Given the description of an element on the screen output the (x, y) to click on. 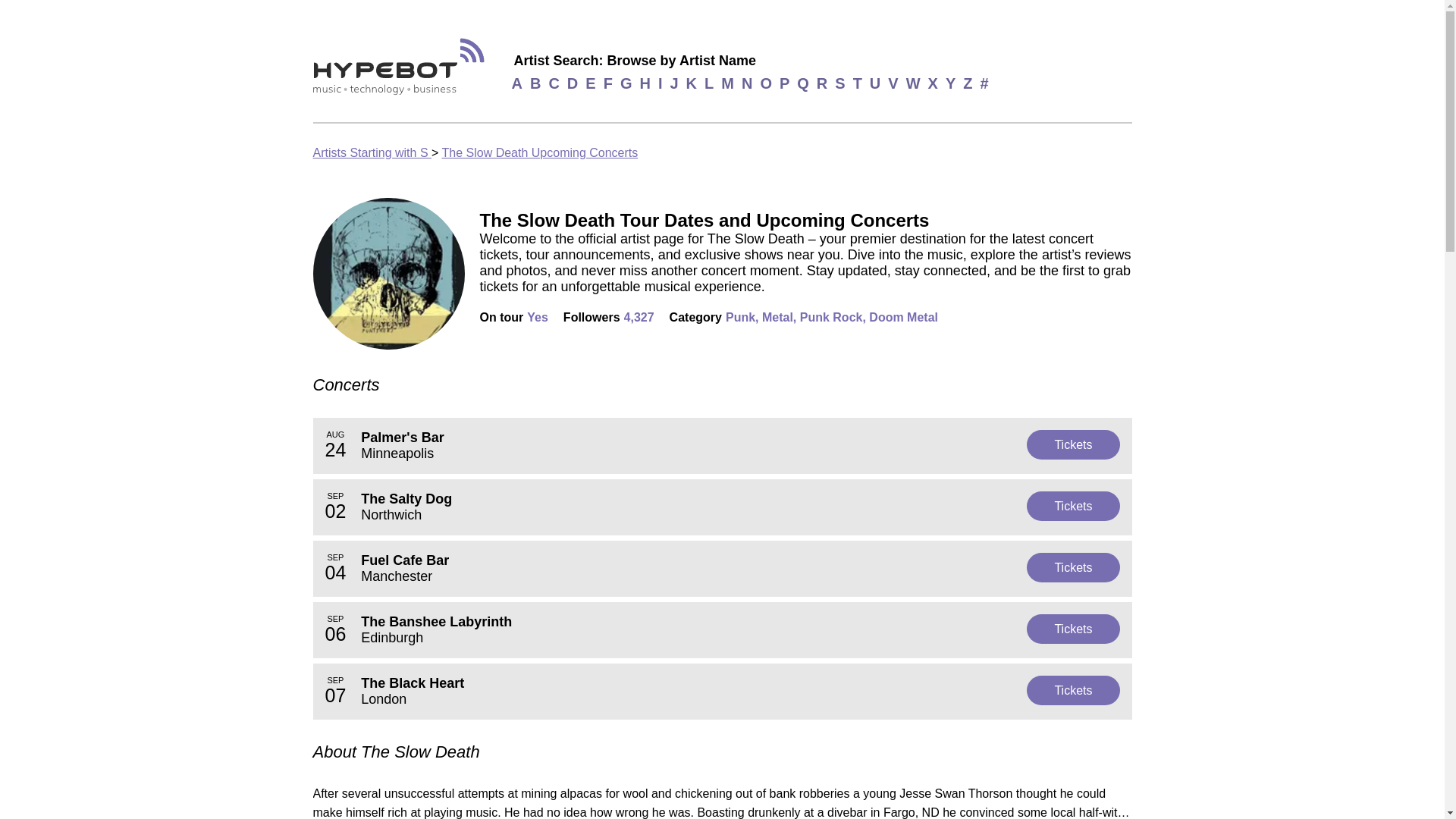
The Slow Death Upcoming Concerts (722, 568)
Artists Starting with S (539, 152)
